Given the description of an element on the screen output the (x, y) to click on. 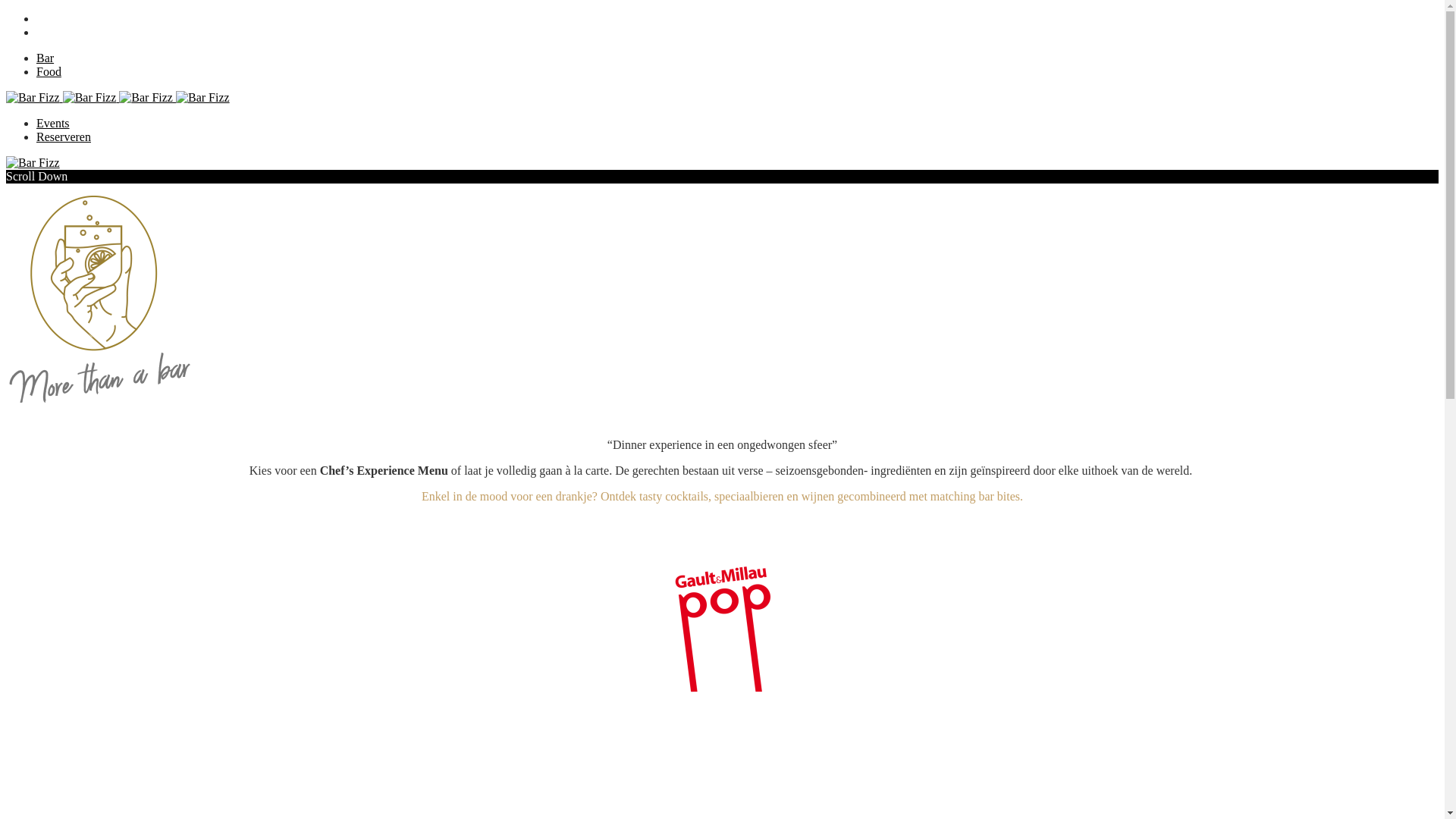
Reserveren Element type: text (63, 136)
Food Element type: text (48, 71)
Bar Element type: text (44, 57)
Events Element type: text (52, 122)
